Given the description of an element on the screen output the (x, y) to click on. 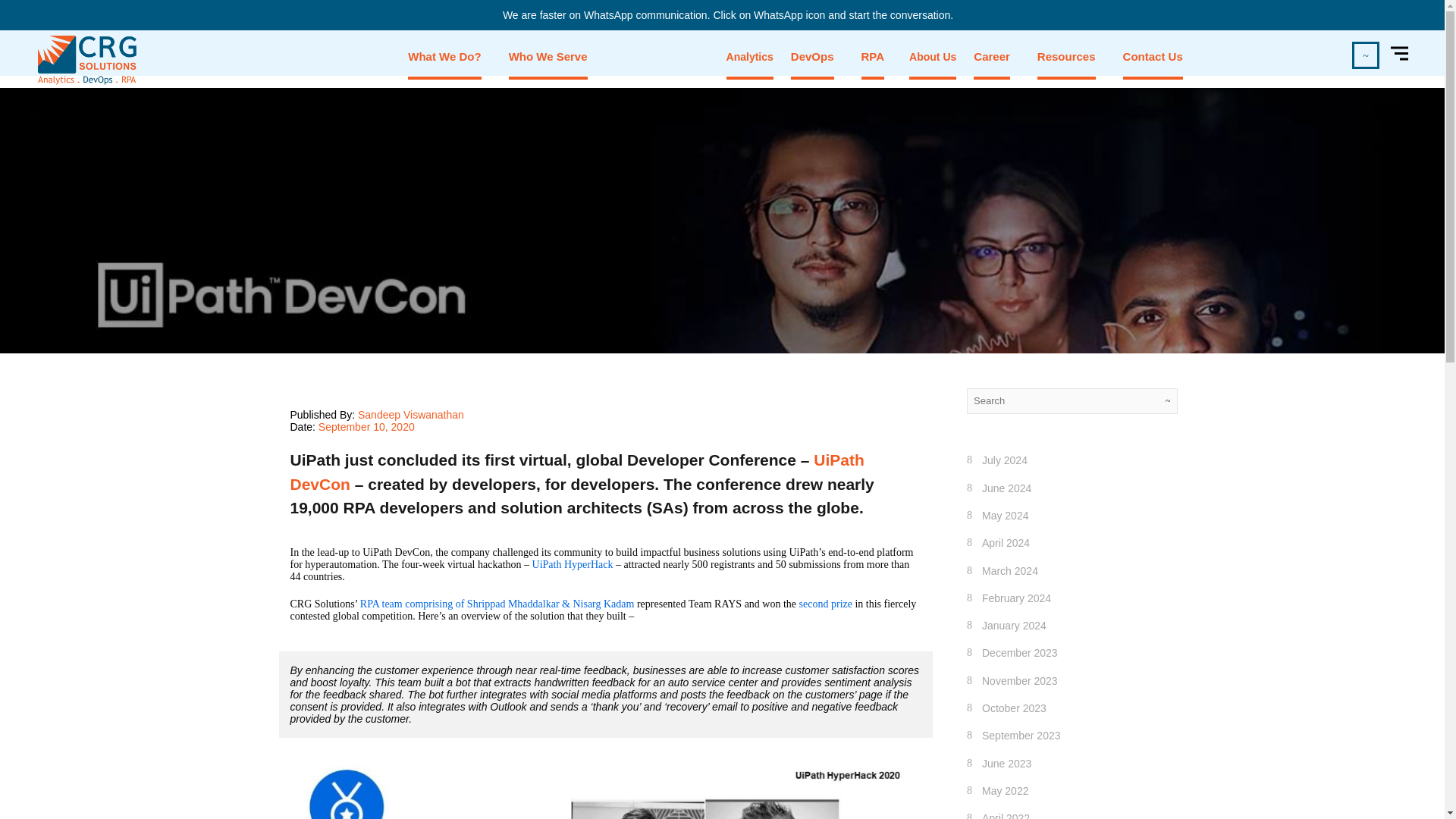
Who We Serve (548, 56)
Analytics (749, 56)
RPA Post (605, 785)
DevOps (812, 56)
What We Do? (443, 56)
